Given the description of an element on the screen output the (x, y) to click on. 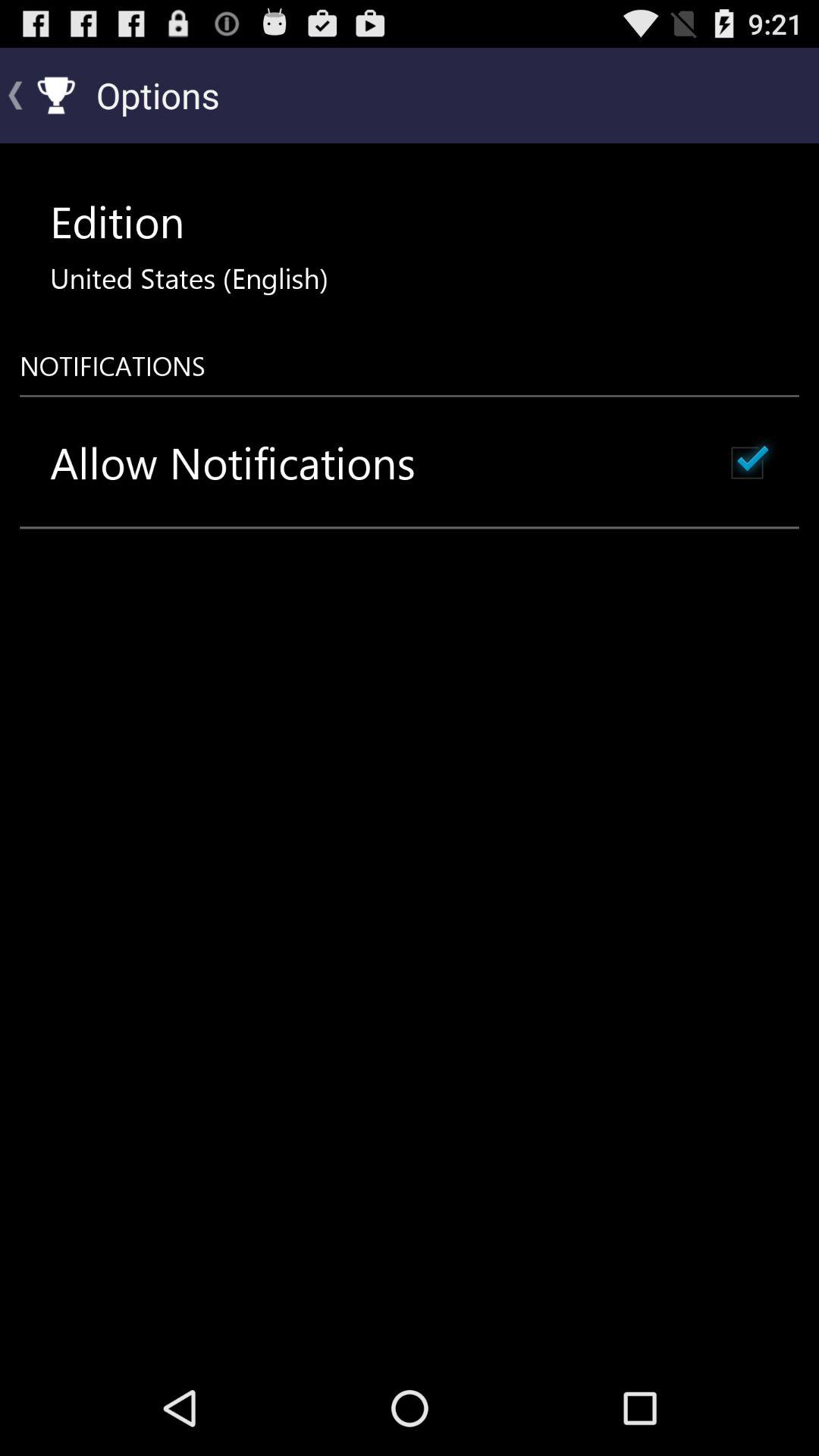
press the edition item (117, 221)
